Given the description of an element on the screen output the (x, y) to click on. 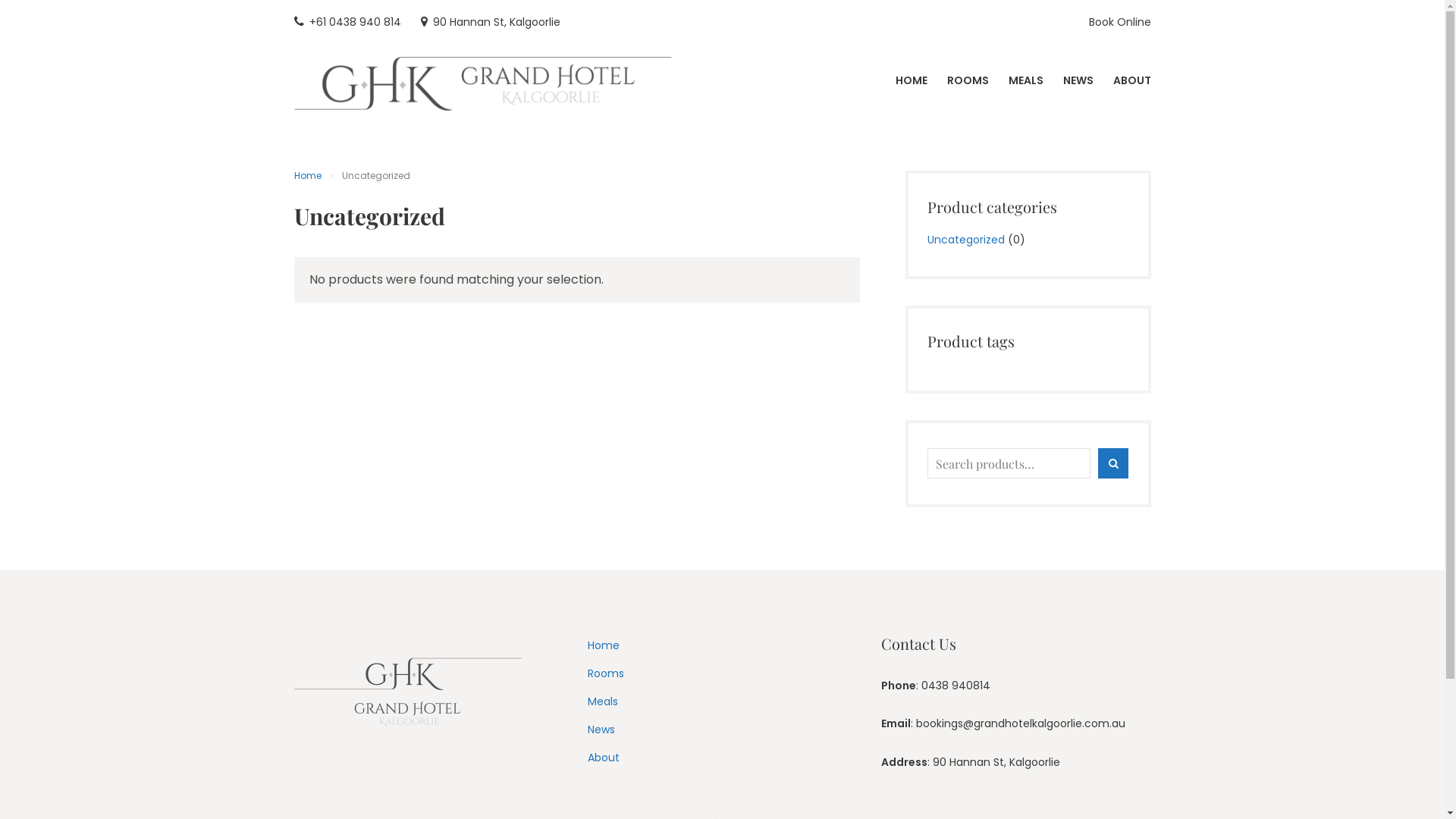
NEWS Element type: text (1078, 80)
Home Element type: text (603, 644)
ABOUT Element type: text (1132, 80)
GRAND HOTEL KALGOORLIE Element type: text (897, 96)
Uncategorized Element type: text (965, 239)
+61 0438 940 814 Element type: text (347, 21)
News Element type: text (601, 729)
Book Online Element type: text (1119, 21)
ROOMS Element type: text (967, 80)
Home Element type: text (307, 175)
Meals Element type: text (602, 701)
90 Hannan St, Kalgoorlie Element type: text (489, 21)
Search Element type: text (1112, 463)
About Element type: text (603, 757)
Rooms Element type: text (605, 672)
MEALS Element type: text (1025, 80)
HOME Element type: text (910, 80)
